Given the description of an element on the screen output the (x, y) to click on. 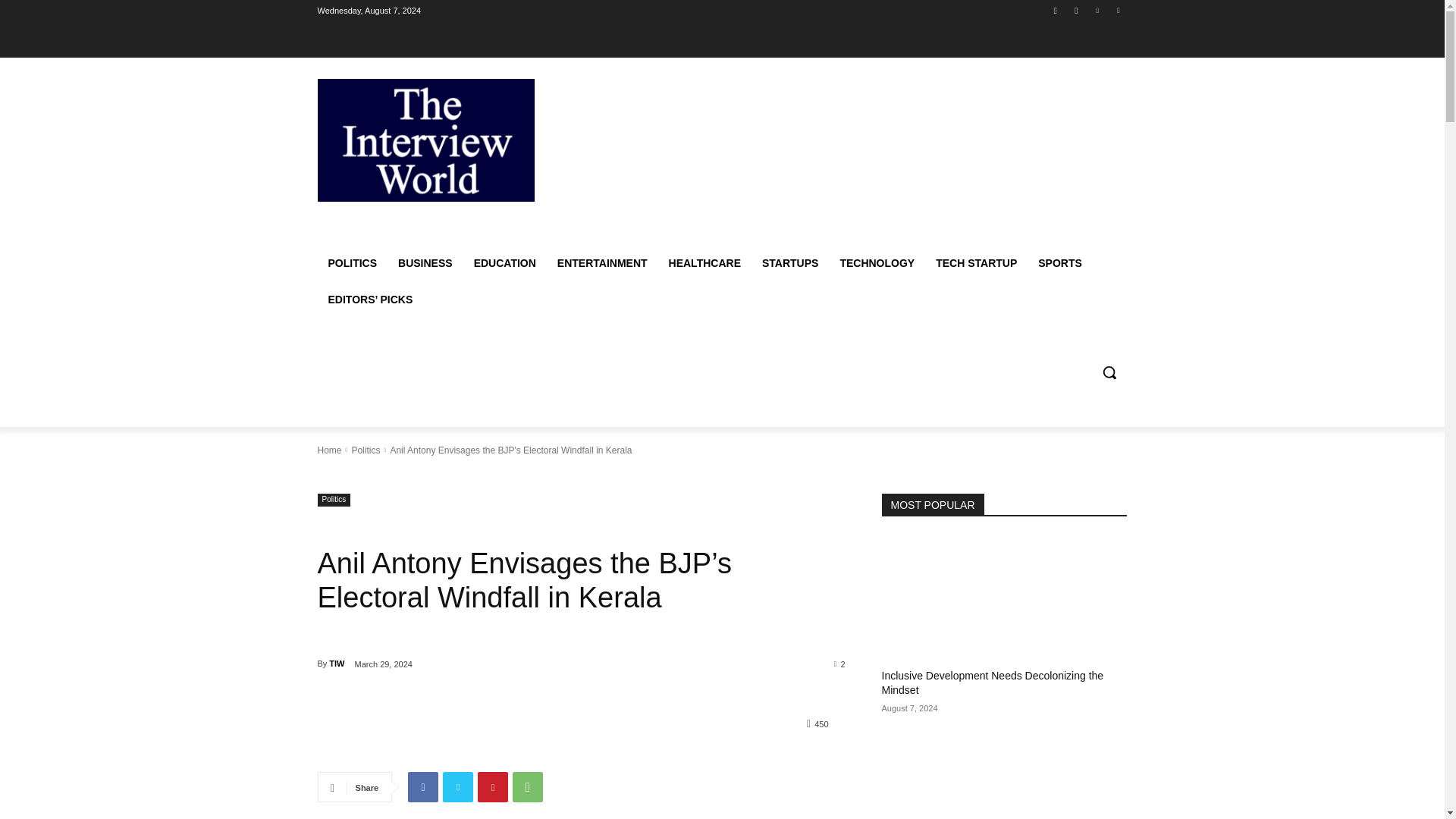
Facebook (1055, 9)
Politics (365, 450)
Linkedin (1097, 9)
HEALTHCARE (704, 262)
POLITICS (352, 262)
STARTUPS (789, 262)
Instagram (1075, 9)
2 (839, 663)
SPORTS (1060, 262)
ENTERTAINMENT (602, 262)
